Given the description of an element on the screen output the (x, y) to click on. 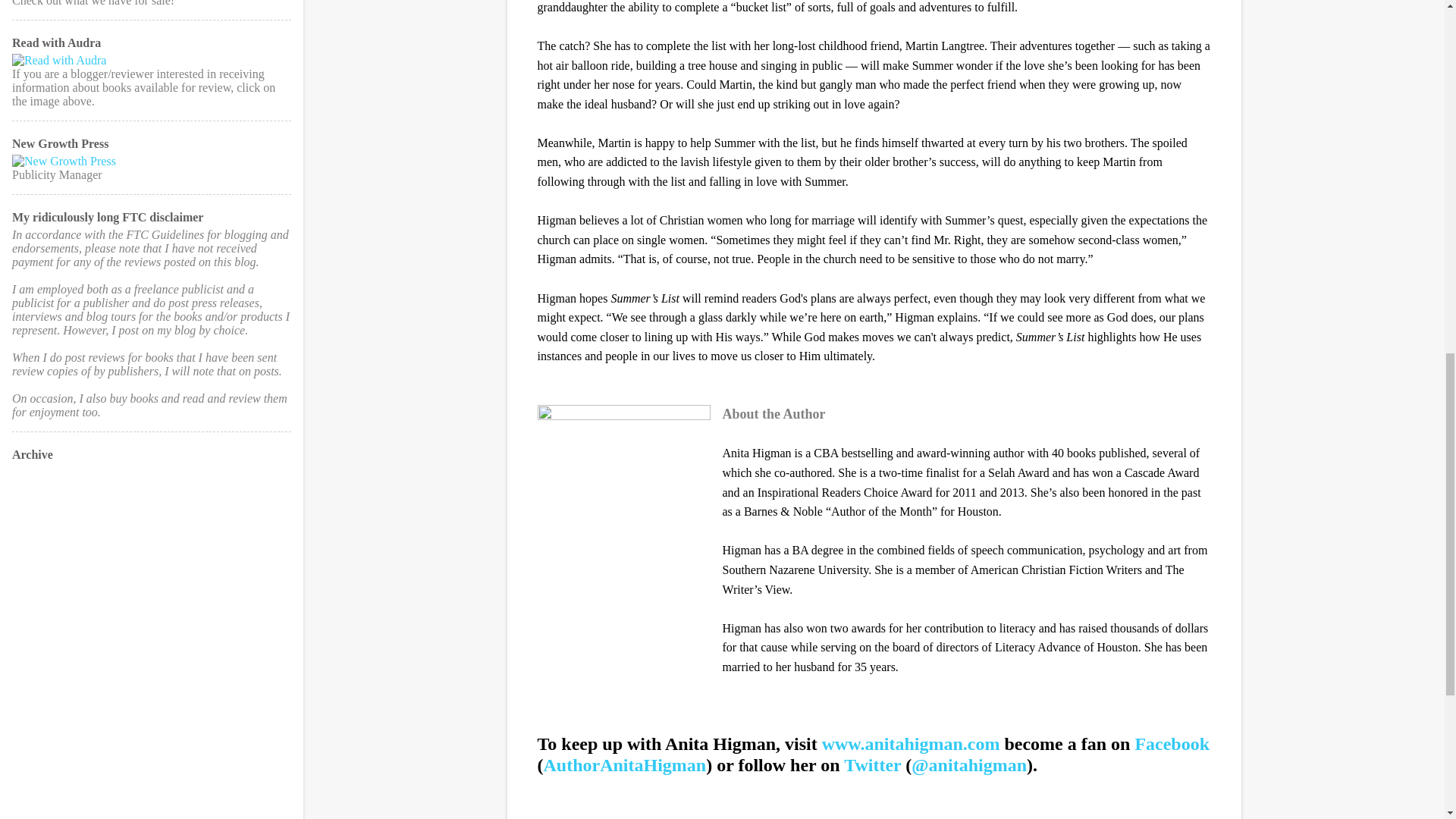
Twitter (872, 764)
AuthorAnitaHigman (624, 764)
www.anitahigman.com (911, 743)
Facebook (1171, 743)
Email Post (545, 816)
